Given the description of an element on the screen output the (x, y) to click on. 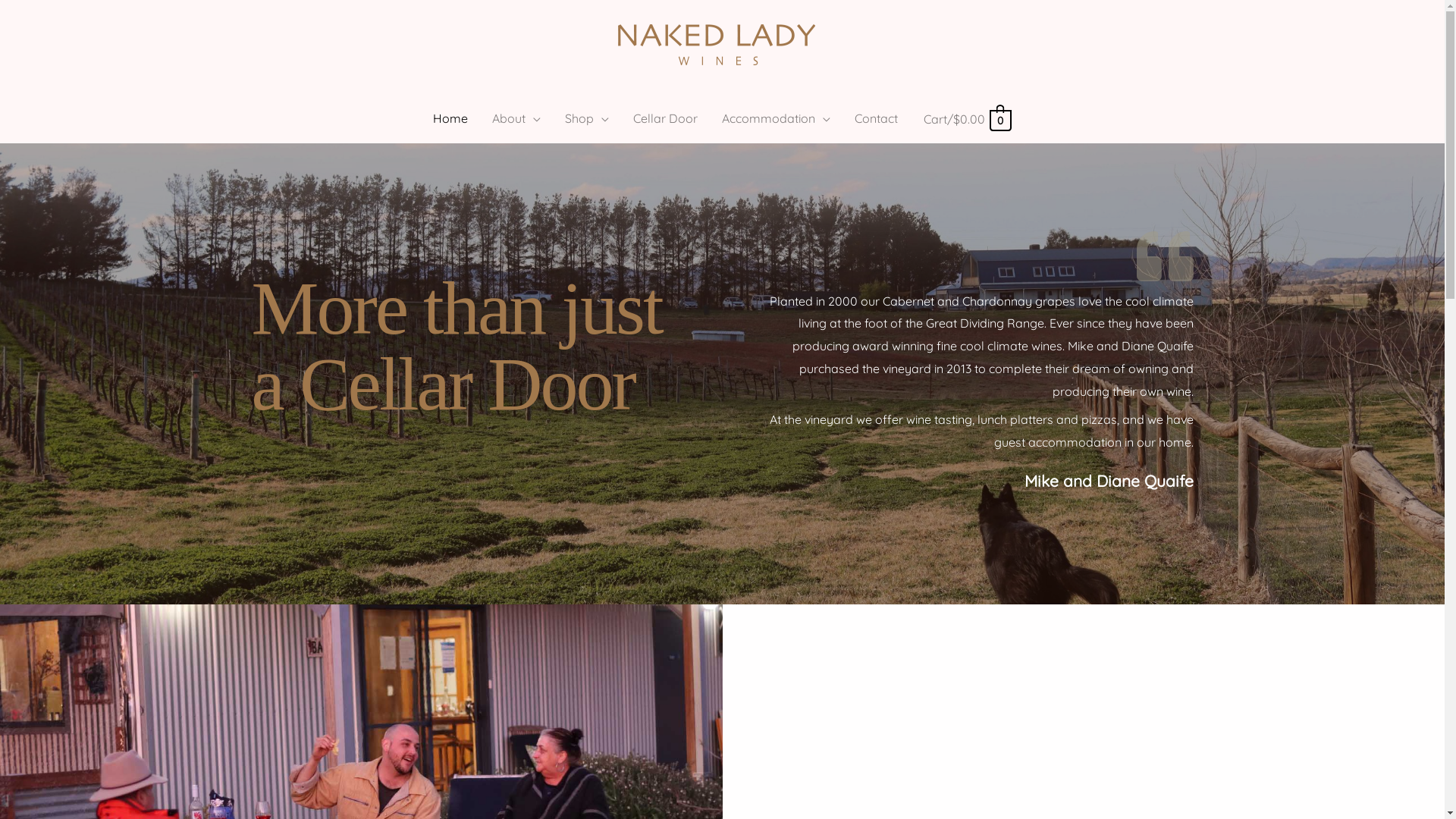
Shop Element type: text (586, 118)
Contact Element type: text (876, 118)
Home Element type: text (450, 118)
Accommodation Element type: text (775, 118)
Cellar Door Element type: text (665, 118)
Cart/$0.00 0 Element type: text (966, 118)
About Element type: text (516, 118)
